Given the description of an element on the screen output the (x, y) to click on. 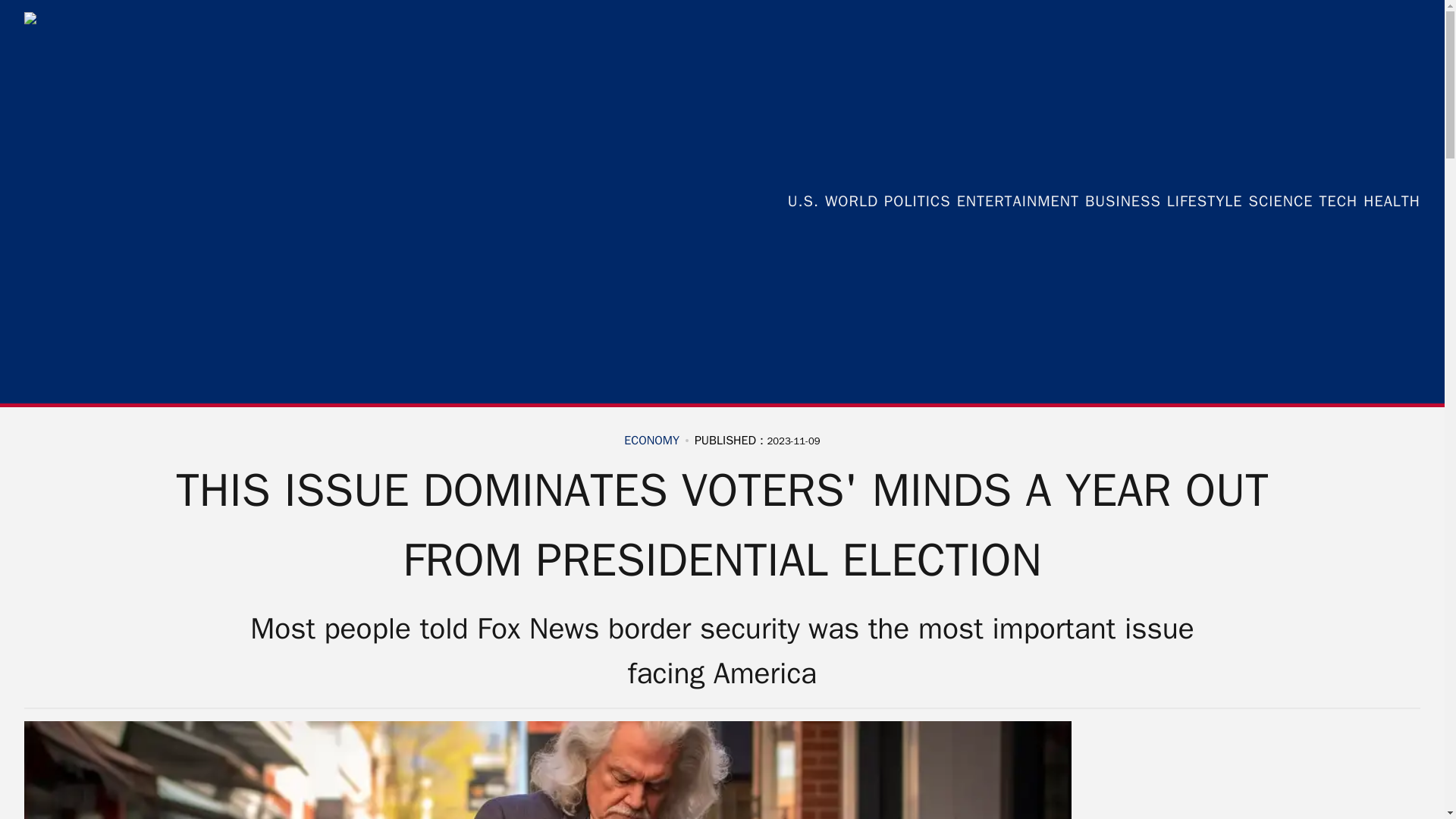
TECH (1337, 201)
BUSINESS (1122, 201)
HEALTH (1391, 201)
ENTERTAINMENT (1017, 201)
U.S. (802, 201)
POLITICS (916, 201)
LIFESTYLE (1205, 201)
WORLD (851, 201)
SCIENCE (1281, 201)
